Given the description of an element on the screen output the (x, y) to click on. 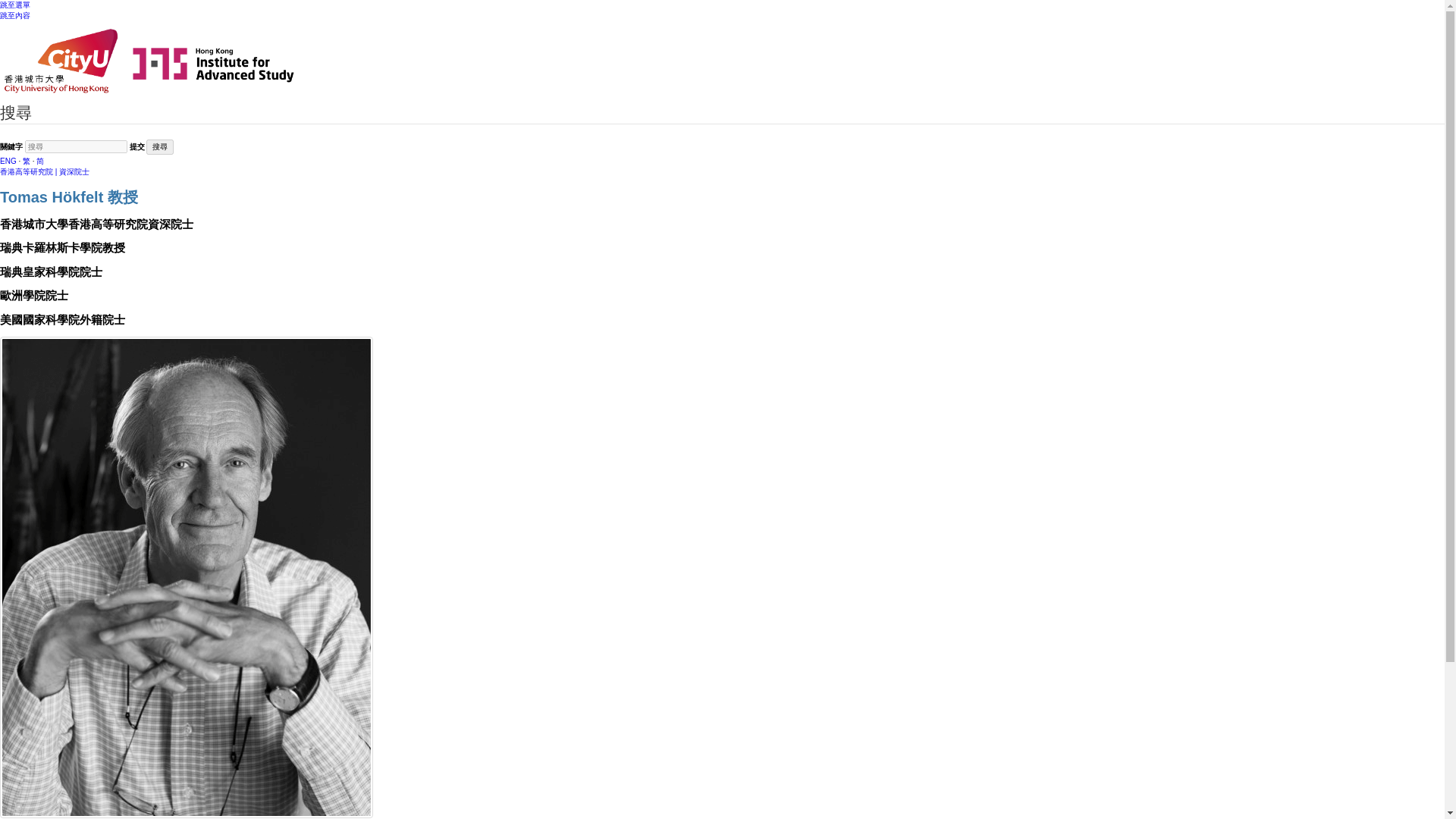
ENG (8, 161)
